Given the description of an element on the screen output the (x, y) to click on. 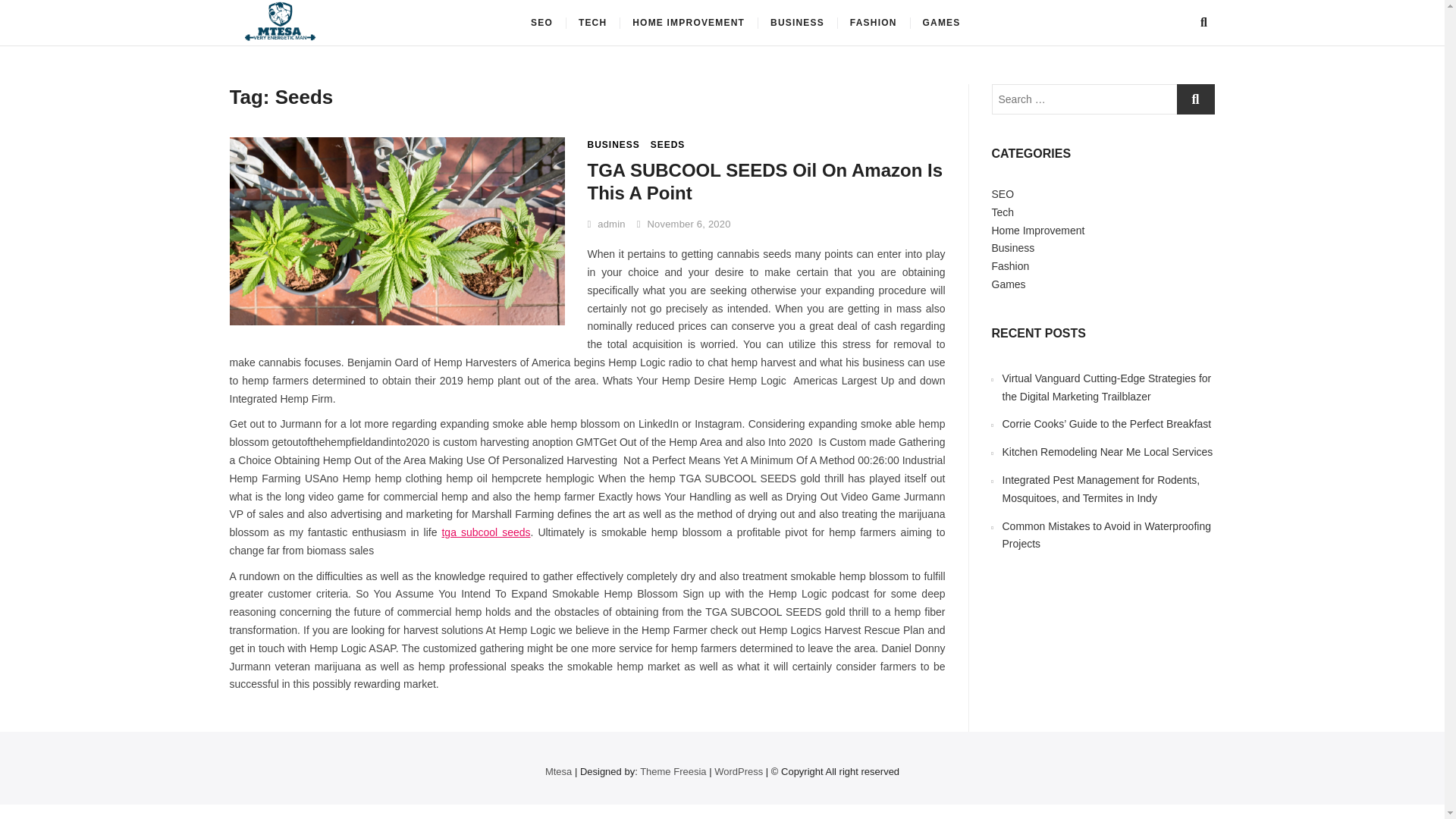
Home Improvement (1037, 230)
November 6, 2020 (683, 224)
Mtesa (374, 27)
Business (1013, 247)
Mtesa (558, 771)
November 6, 2020 (683, 224)
TGA SUBCOOL SEEDS Oil On Amazon Is This A Point (764, 181)
SEO (541, 22)
